Given the description of an element on the screen output the (x, y) to click on. 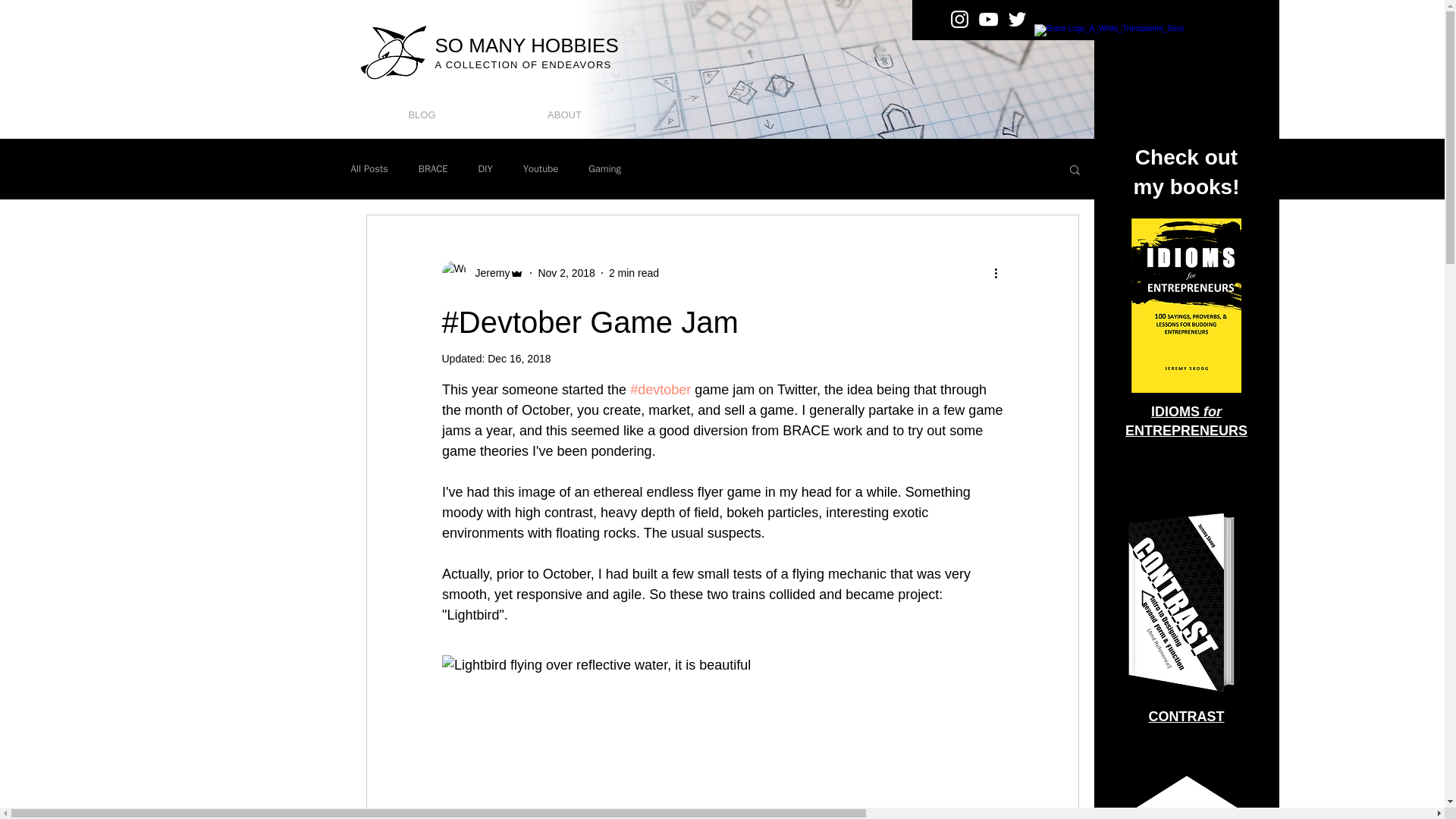
Nov 2, 2018 (566, 272)
A COLLECTION OF ENDEAVORS (523, 64)
Gaming (604, 169)
SO MANY HOBBIES (526, 45)
BRACE (433, 169)
DIY (486, 169)
Youtube (539, 169)
IDIOMS for ENTREPRENEURS (1186, 421)
Dec 16, 2018 (518, 358)
ABOUT (563, 115)
